Given the description of an element on the screen output the (x, y) to click on. 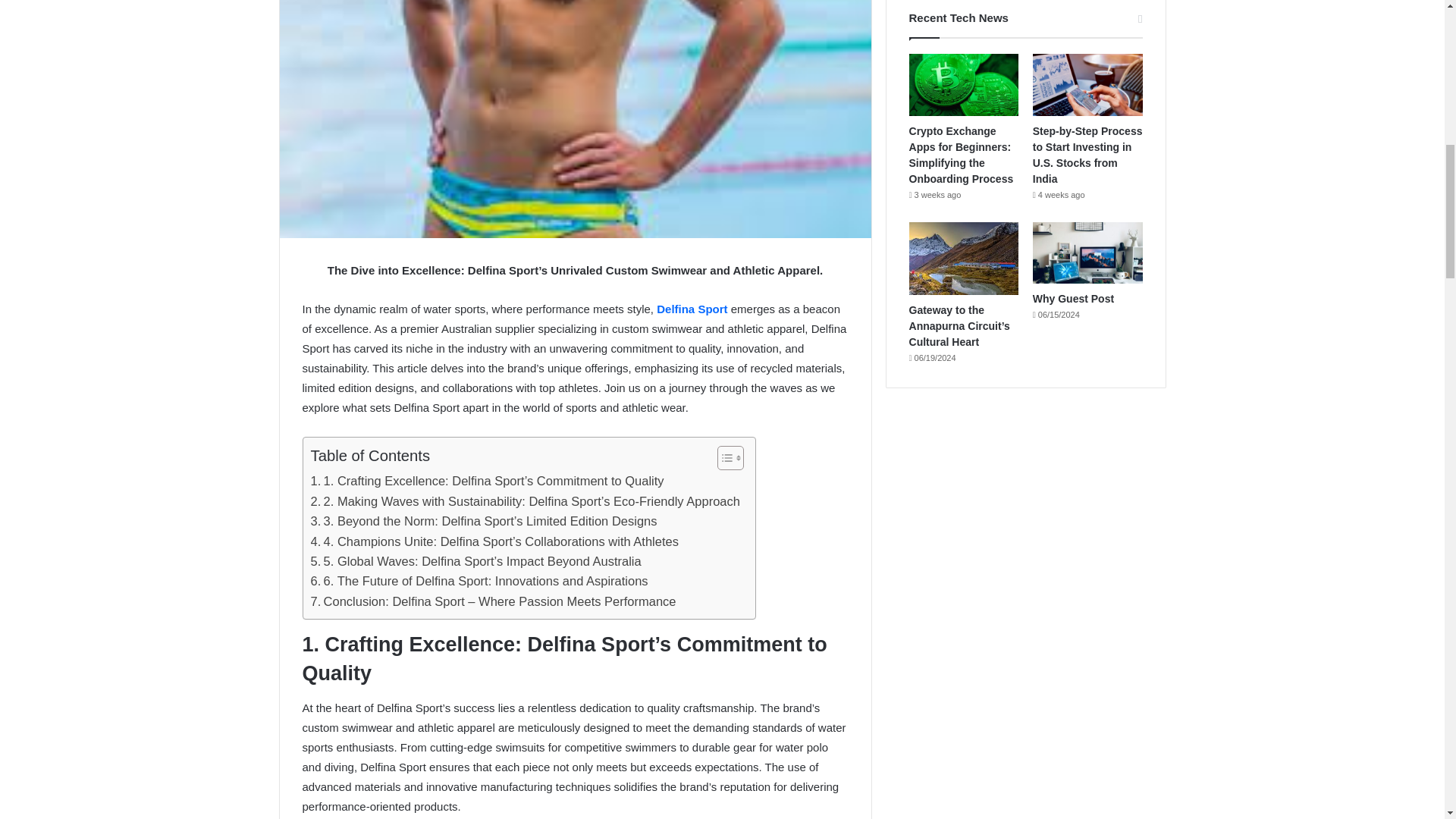
Delfina Sport (691, 308)
